Given the description of an element on the screen output the (x, y) to click on. 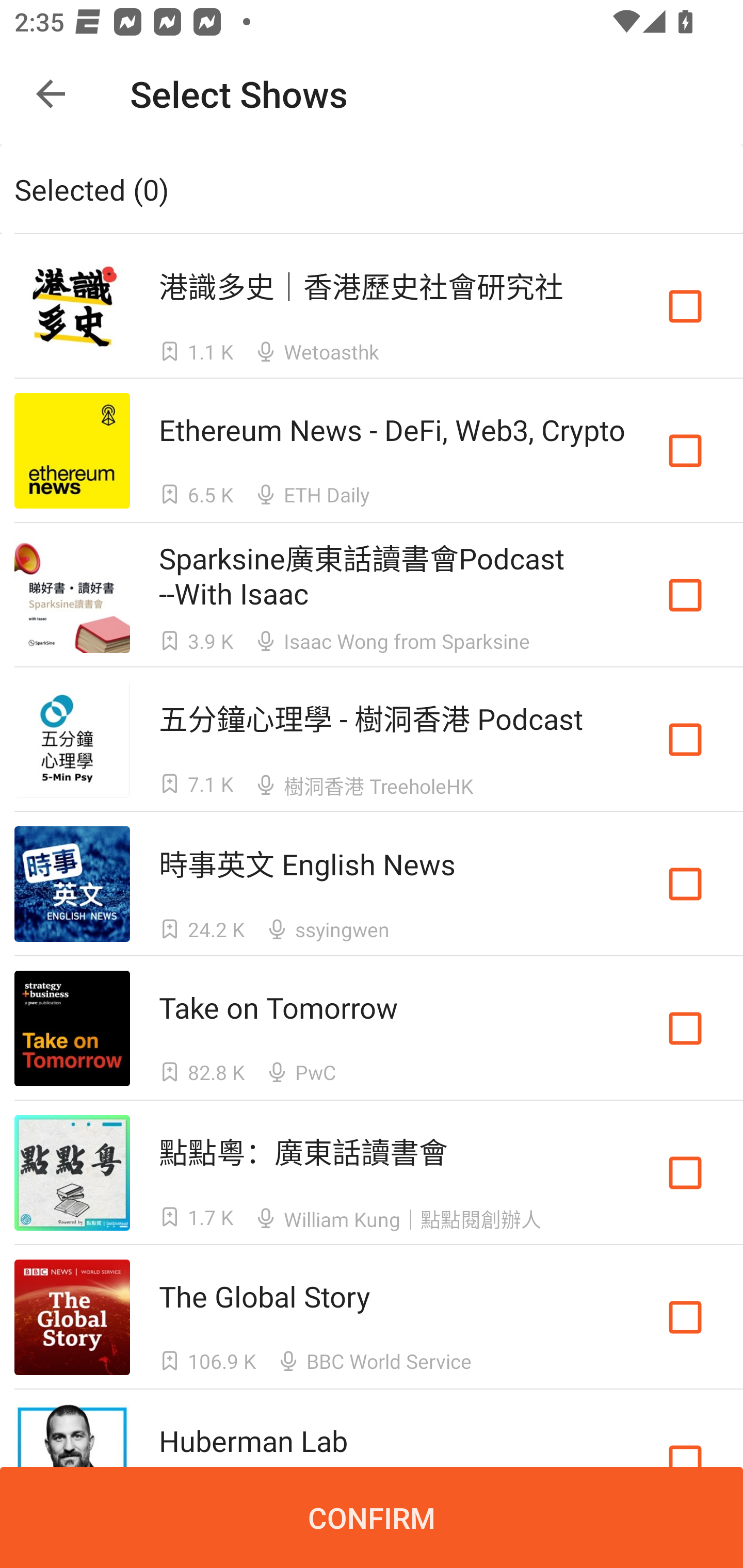
Navigate up (50, 93)
港識多史｜香港歷史社會研究社 港識多史｜香港歷史社會研究社  1.1 K  Wetoasthk (371, 305)
Take on Tomorrow Take on Tomorrow  82.8 K  PwC (371, 1028)
CONFIRM (371, 1517)
